Given the description of an element on the screen output the (x, y) to click on. 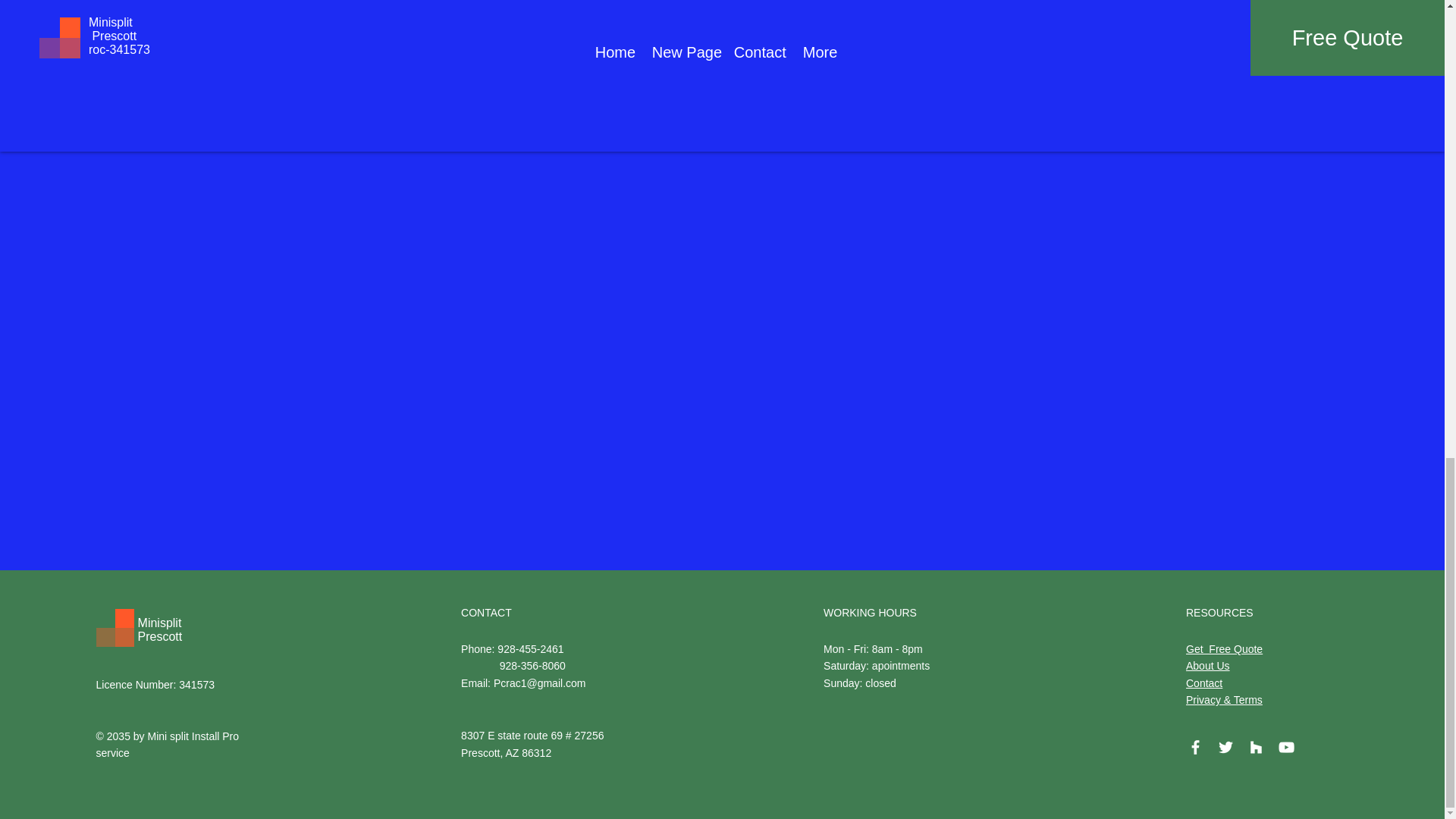
Minisplit (160, 622)
Prescott (160, 635)
About Us (1208, 665)
Contact (1204, 683)
Get  Free Quote (1224, 648)
